Given the description of an element on the screen output the (x, y) to click on. 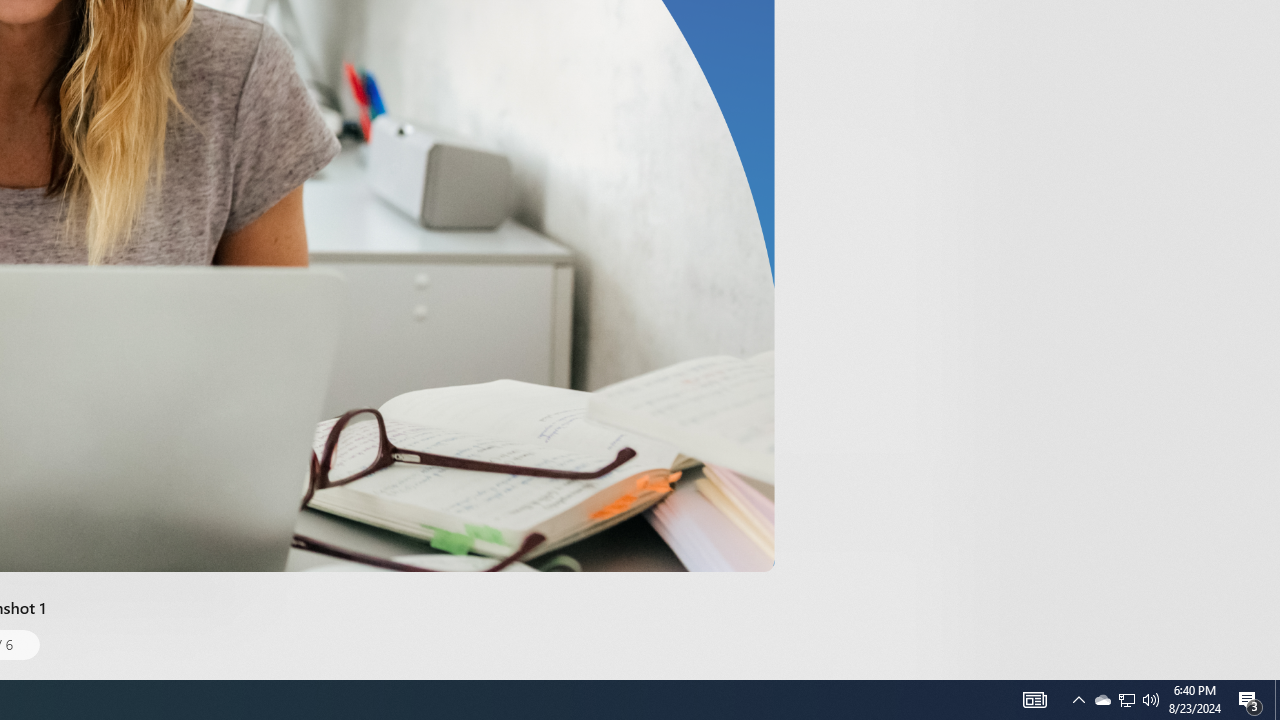
Show all ratings and reviews (924, 97)
